Given the description of an element on the screen output the (x, y) to click on. 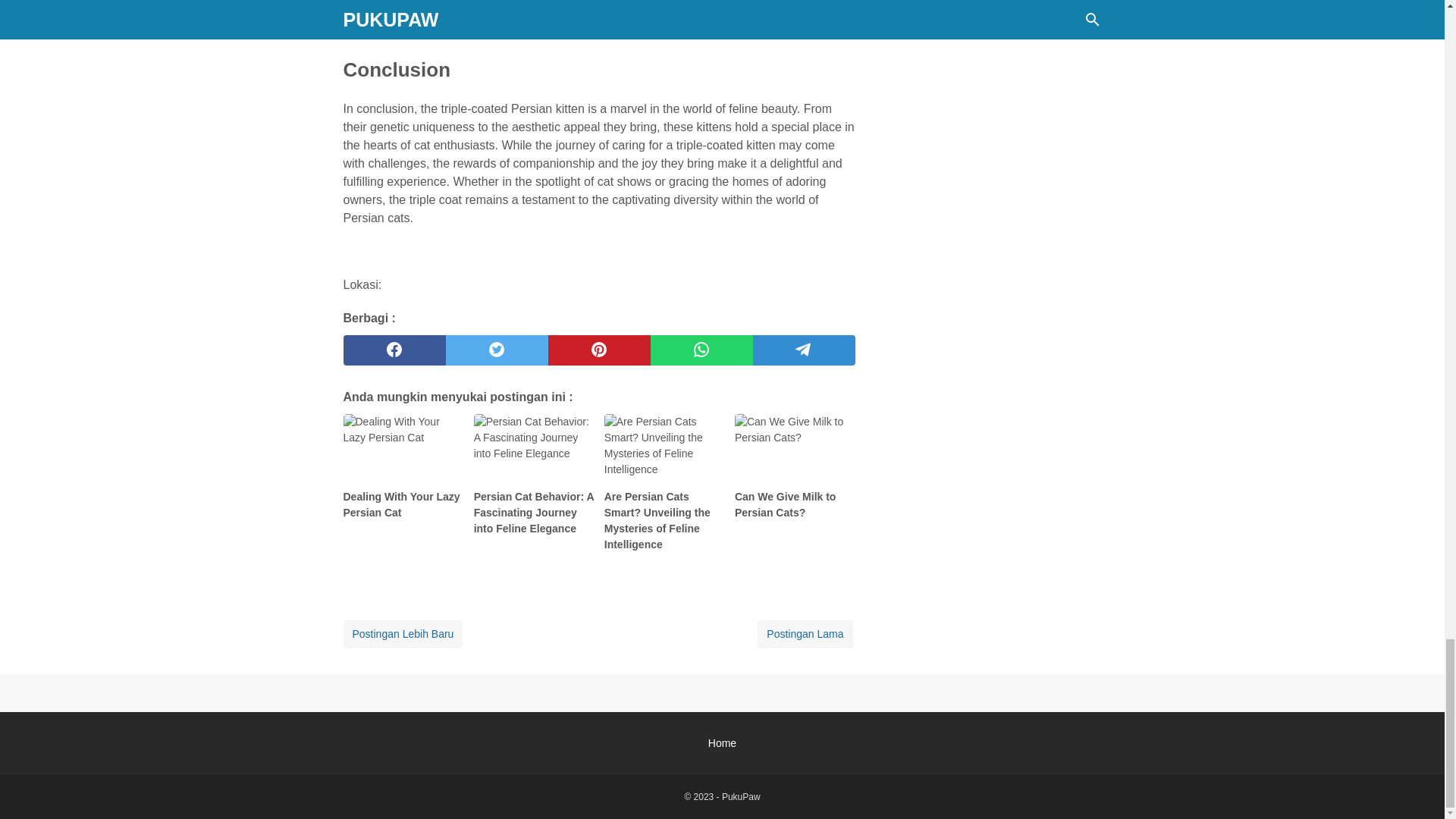
PukuPaw (741, 796)
Postingan Lama (804, 633)
Home (721, 743)
twitter (496, 349)
Postingan Lebih Baru (402, 633)
facebook (393, 349)
Can We Give Milk to Persian Cats? (795, 473)
Postingan Lebih Baru (402, 633)
